Given the description of an element on the screen output the (x, y) to click on. 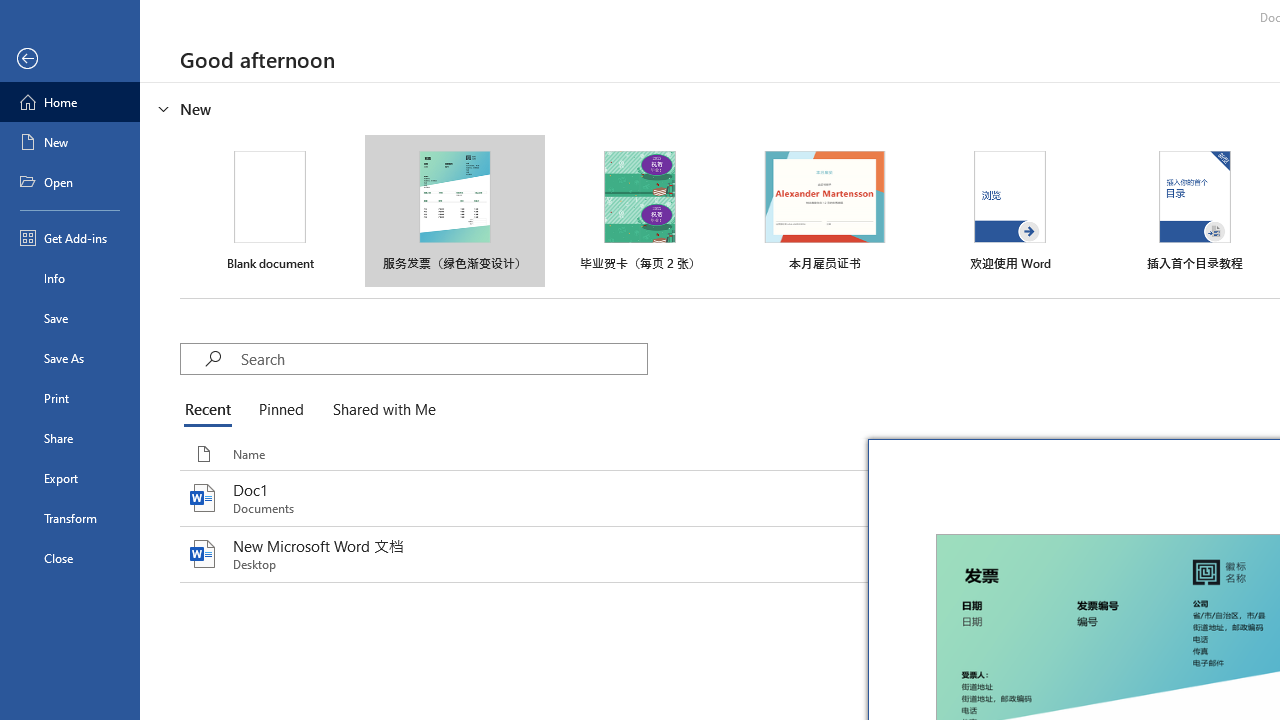
Blank document (269, 211)
Shared with Me (379, 410)
Export (69, 477)
Transform (69, 517)
Share (69, 437)
New (69, 141)
Print (69, 398)
Save As (69, 357)
